Given the description of an element on the screen output the (x, y) to click on. 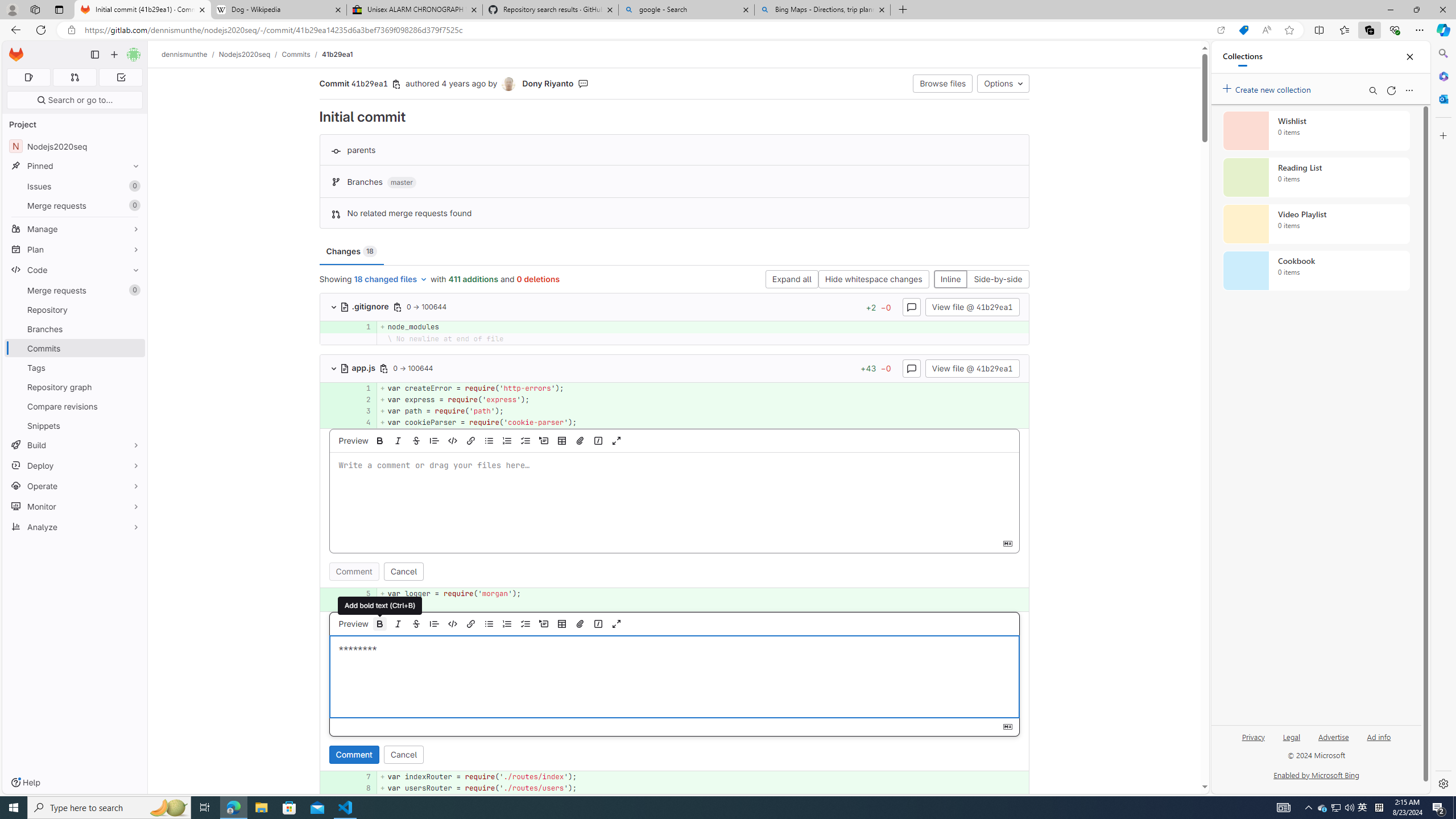
Dony Riyanto's avatar (509, 83)
Pinned (74, 165)
Changes 18 (351, 251)
Hide whitespace changes (873, 279)
Address and search bar (647, 29)
Personal Profile (12, 9)
AutomationID: 4a68969ef8e858229267b842dedf42ab5dde4d50_0_5 (674, 594)
+ var cookieParser = require('cookie-parser');  (703, 422)
Cancel (402, 754)
3 (360, 410)
Tags (74, 367)
Search (1442, 53)
Side bar (1443, 418)
